Given the description of an element on the screen output the (x, y) to click on. 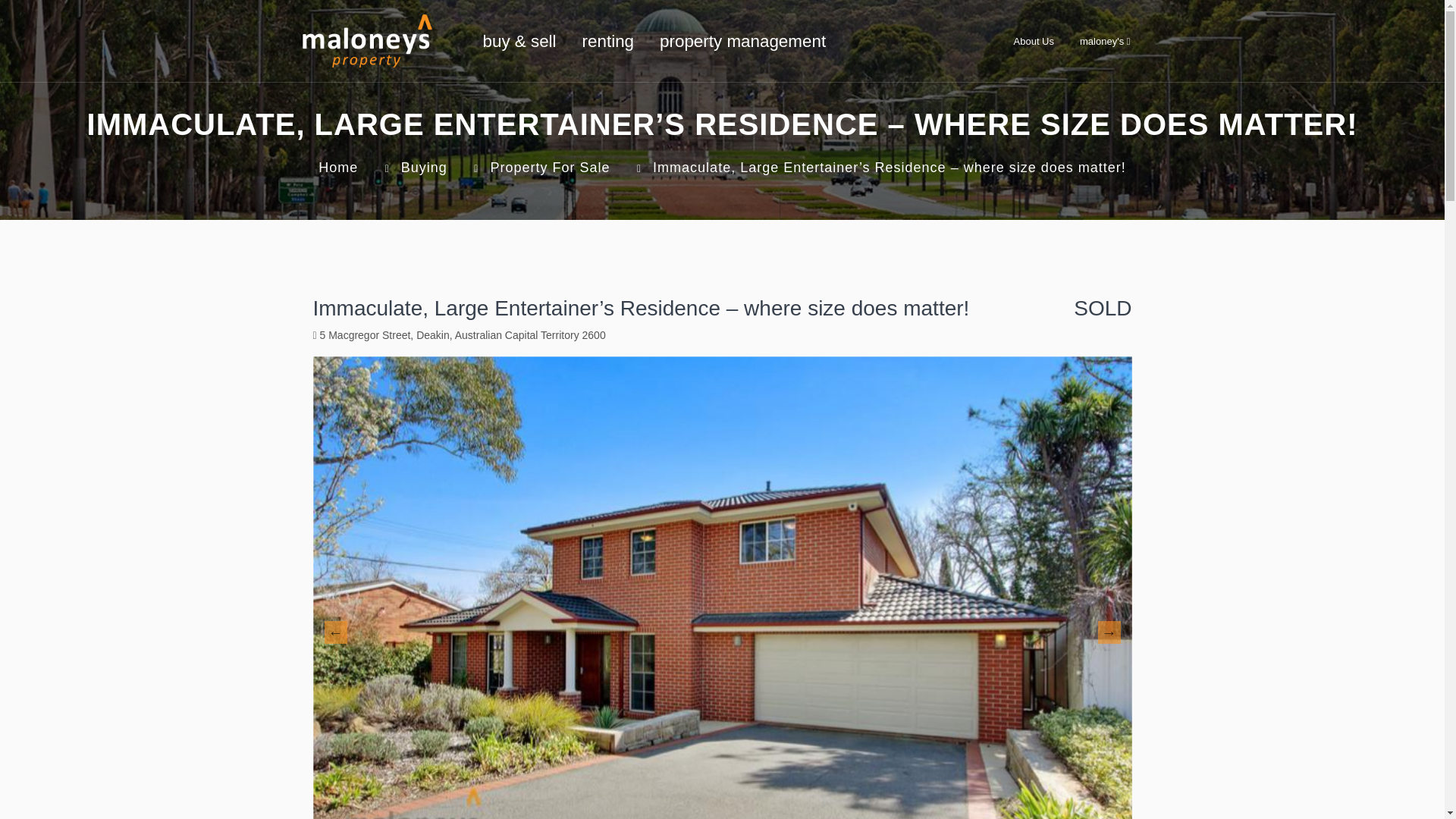
property management (742, 40)
renting (607, 40)
